Given the description of an element on the screen output the (x, y) to click on. 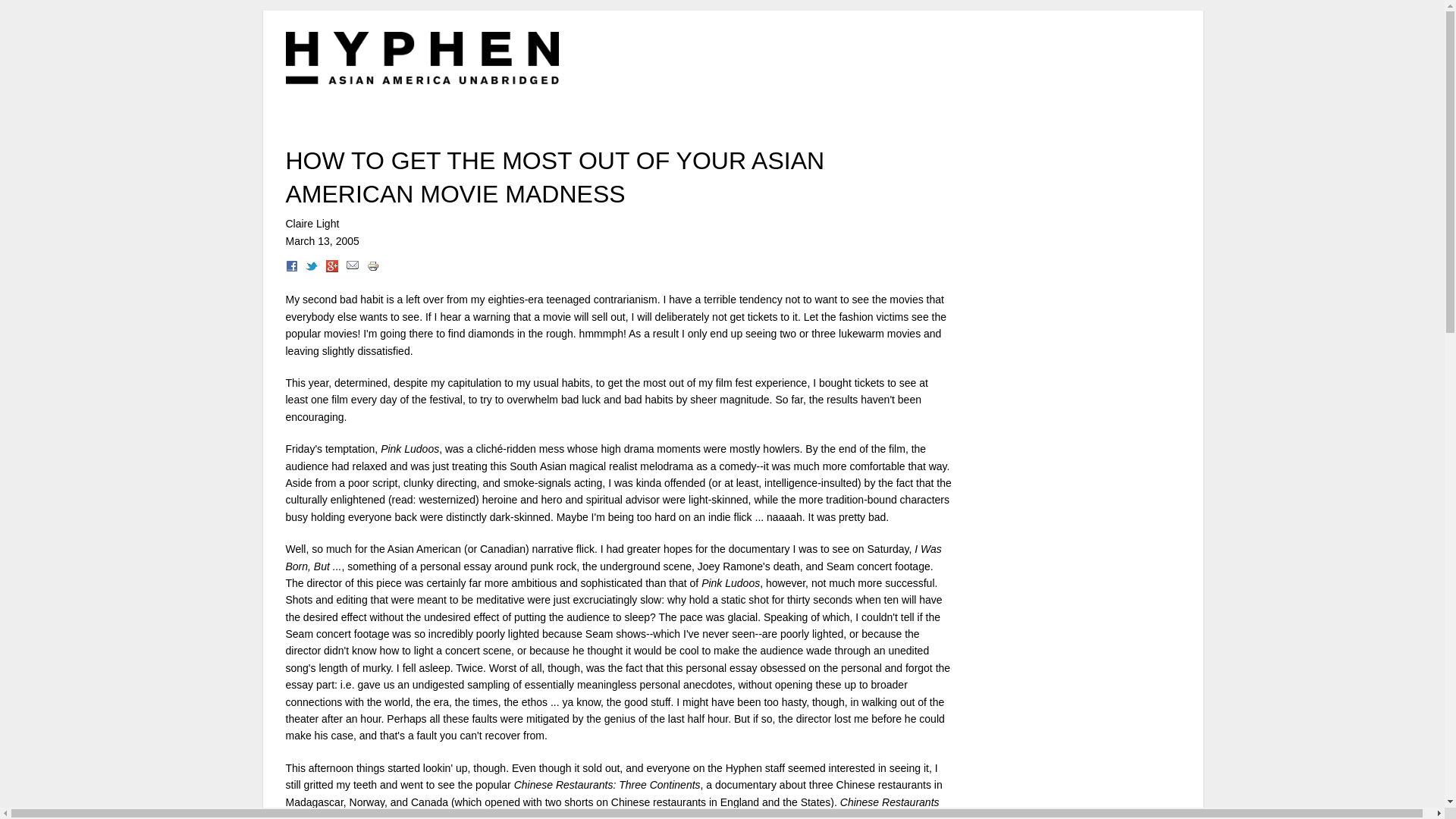
Share on Facebook (291, 268)
Hyphen (421, 57)
Printable version (372, 268)
Claire Light (312, 223)
Send to a friend (352, 268)
Share this on Twitter (311, 268)
